Given the description of an element on the screen output the (x, y) to click on. 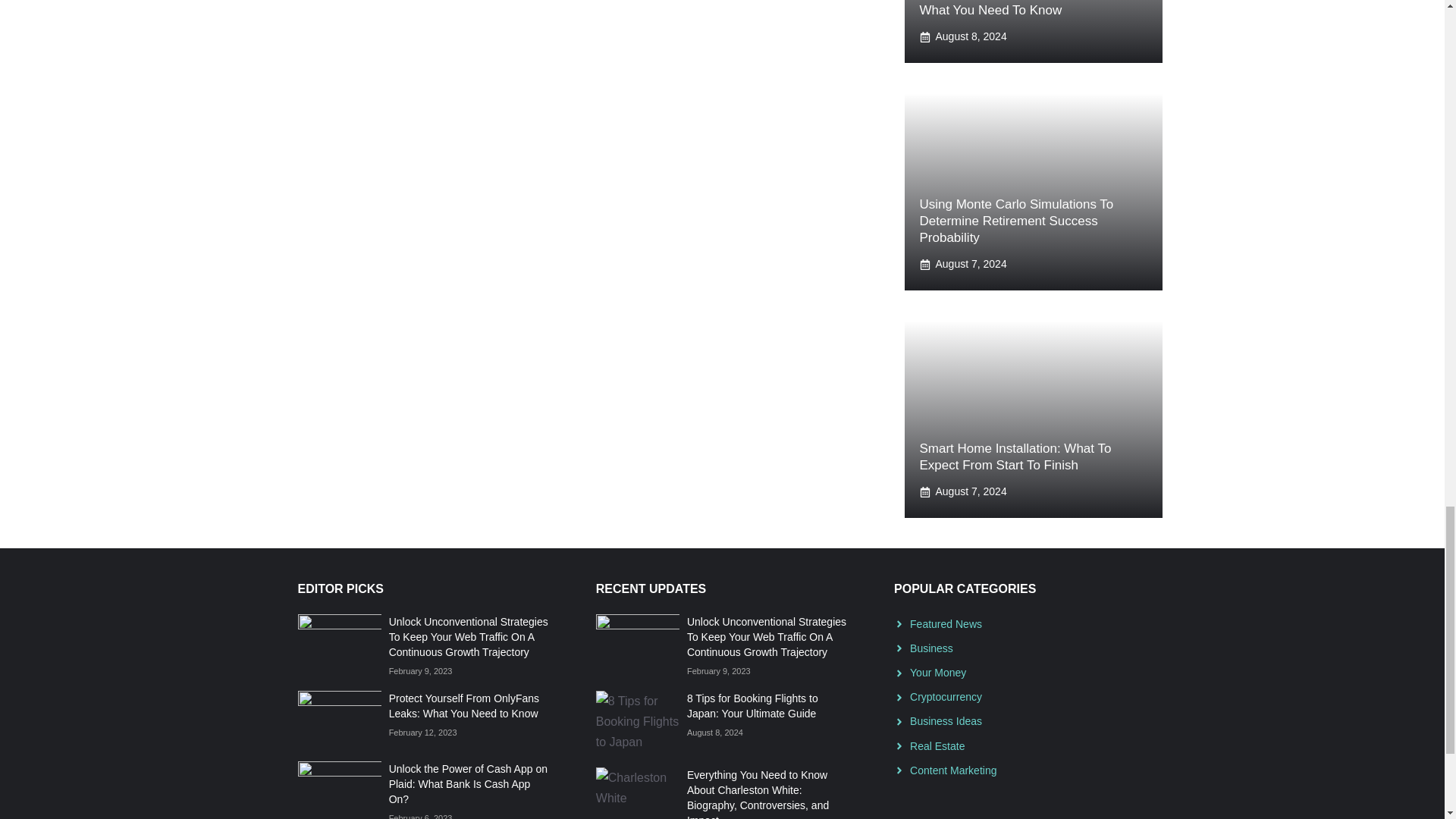
8 Tips for Booking Flights to Japan: Your Ultimate Guide (752, 705)
Pros And Cons Of Flying Standby: What You Need To Know (1016, 8)
Protect Yourself From OnlyFans Leaks: What You Need to Know (463, 705)
Smart Home Installation: What To Expect From Start To Finish (1014, 456)
